Given the description of an element on the screen output the (x, y) to click on. 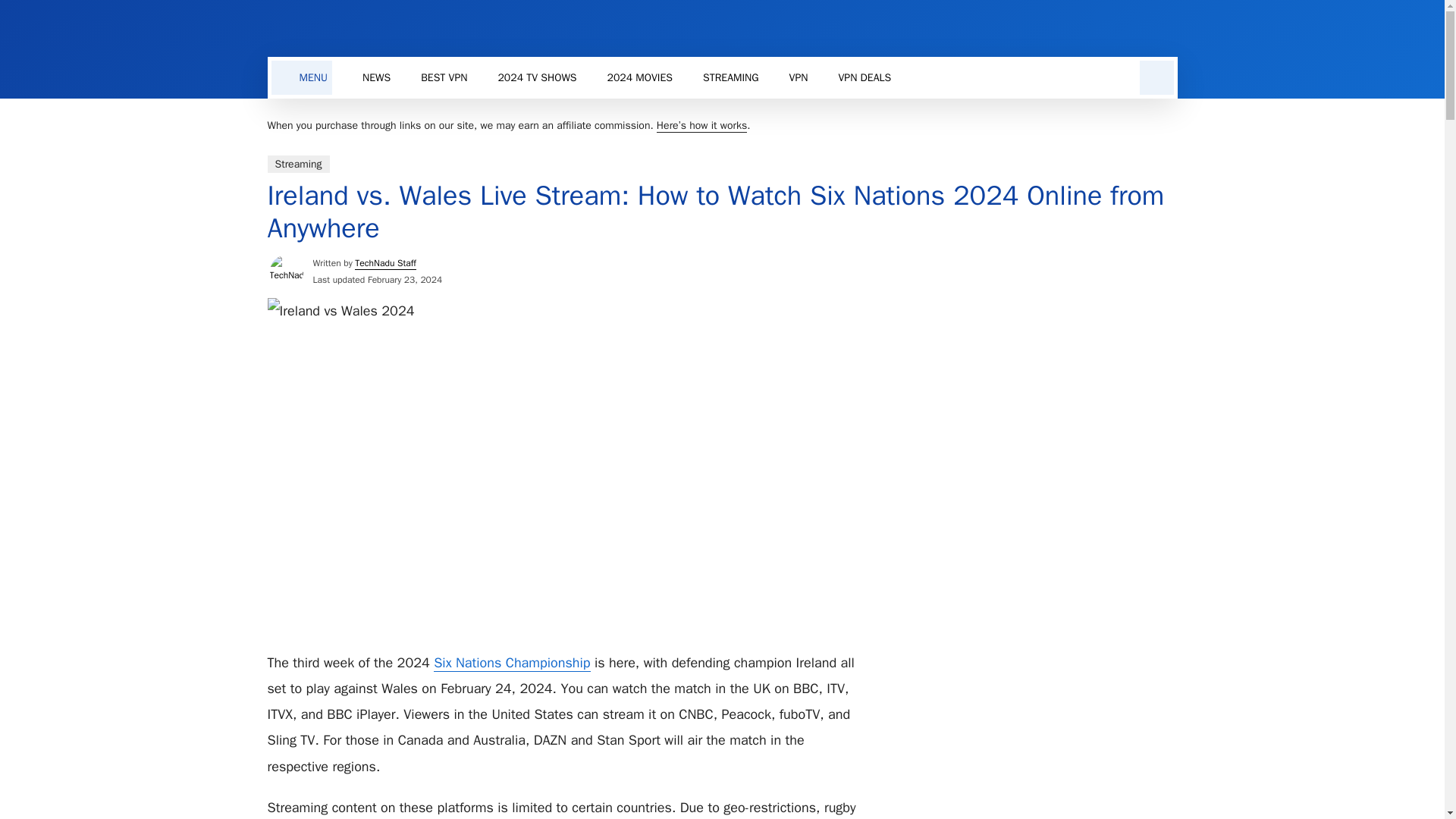
2024 MOVIES (639, 76)
STREAMING (731, 76)
VPN (798, 76)
BEST VPN (443, 76)
2024 TV SHOWS (536, 76)
Find us on Facebook (1131, 27)
MENU (301, 77)
VPN DEALS (863, 76)
Find us on X (1161, 27)
